Given the description of an element on the screen output the (x, y) to click on. 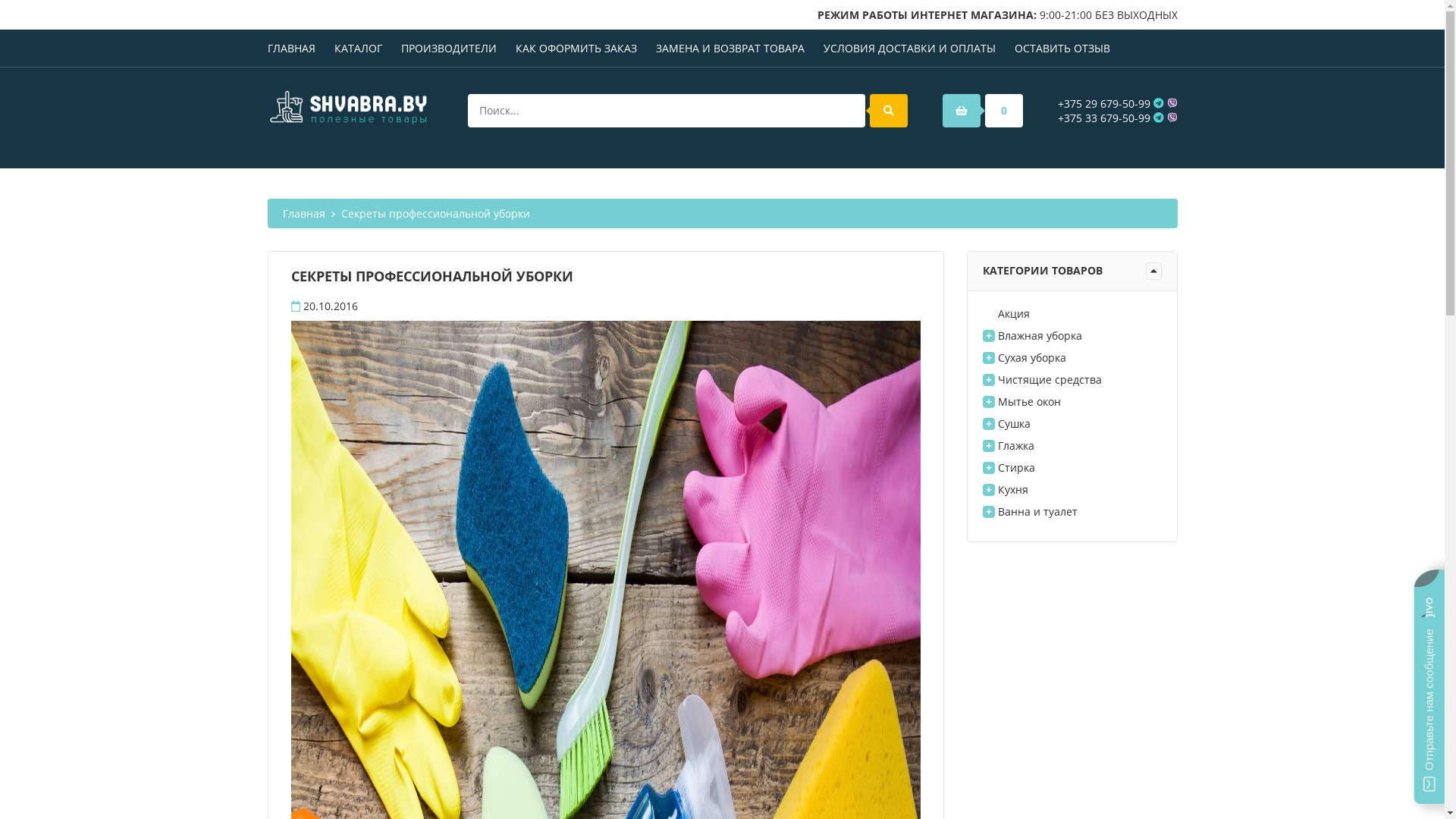
0 Element type: text (981, 110)
+375 33 679-50-99 Element type: text (1103, 117)
+375 29 679-50-99 Element type: text (1103, 103)
